Given the description of an element on the screen output the (x, y) to click on. 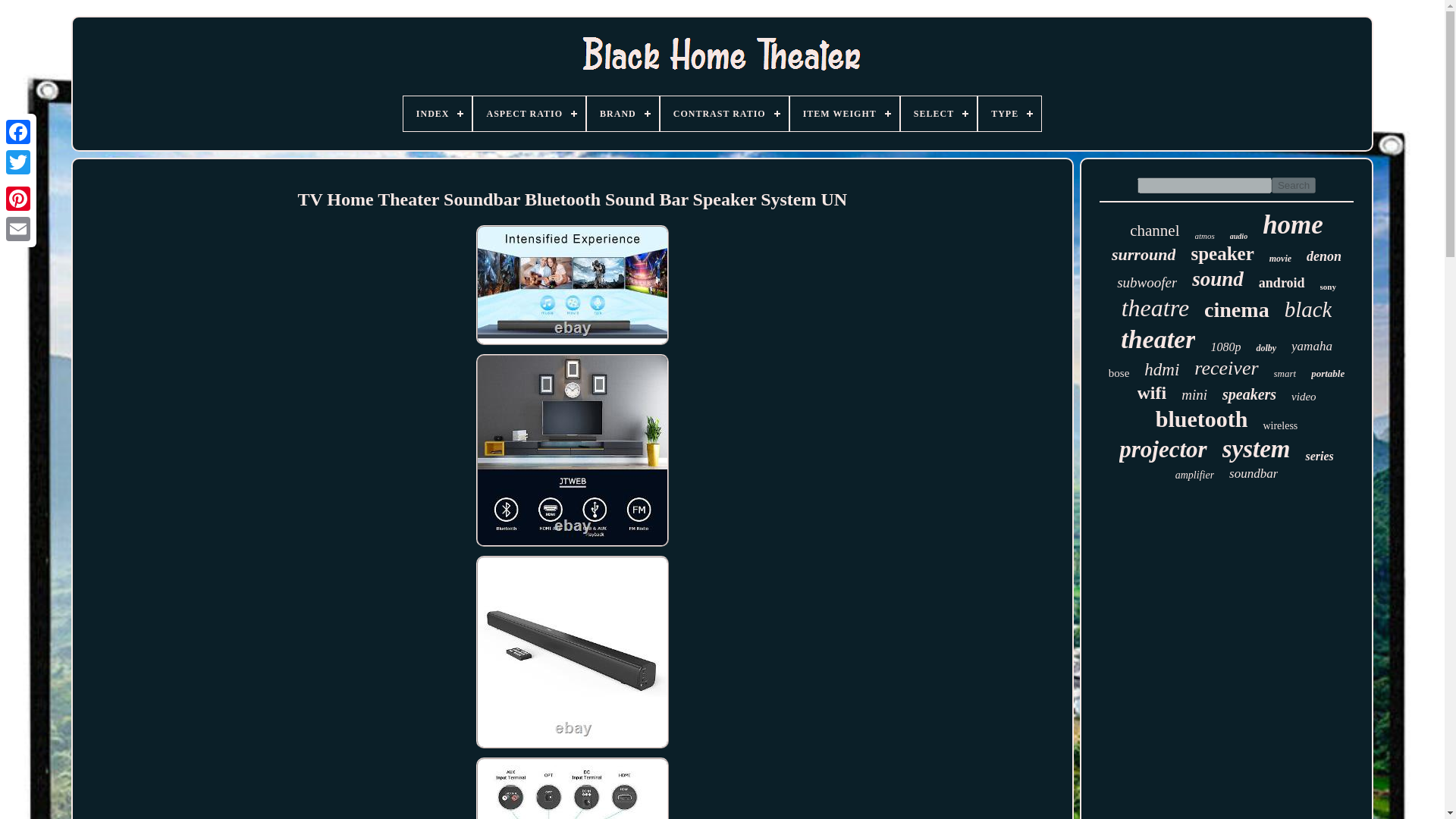
Search (1293, 185)
BRAND (622, 113)
Facebook (17, 132)
INDEX (437, 113)
ASPECT RATIO (529, 113)
